Given the description of an element on the screen output the (x, y) to click on. 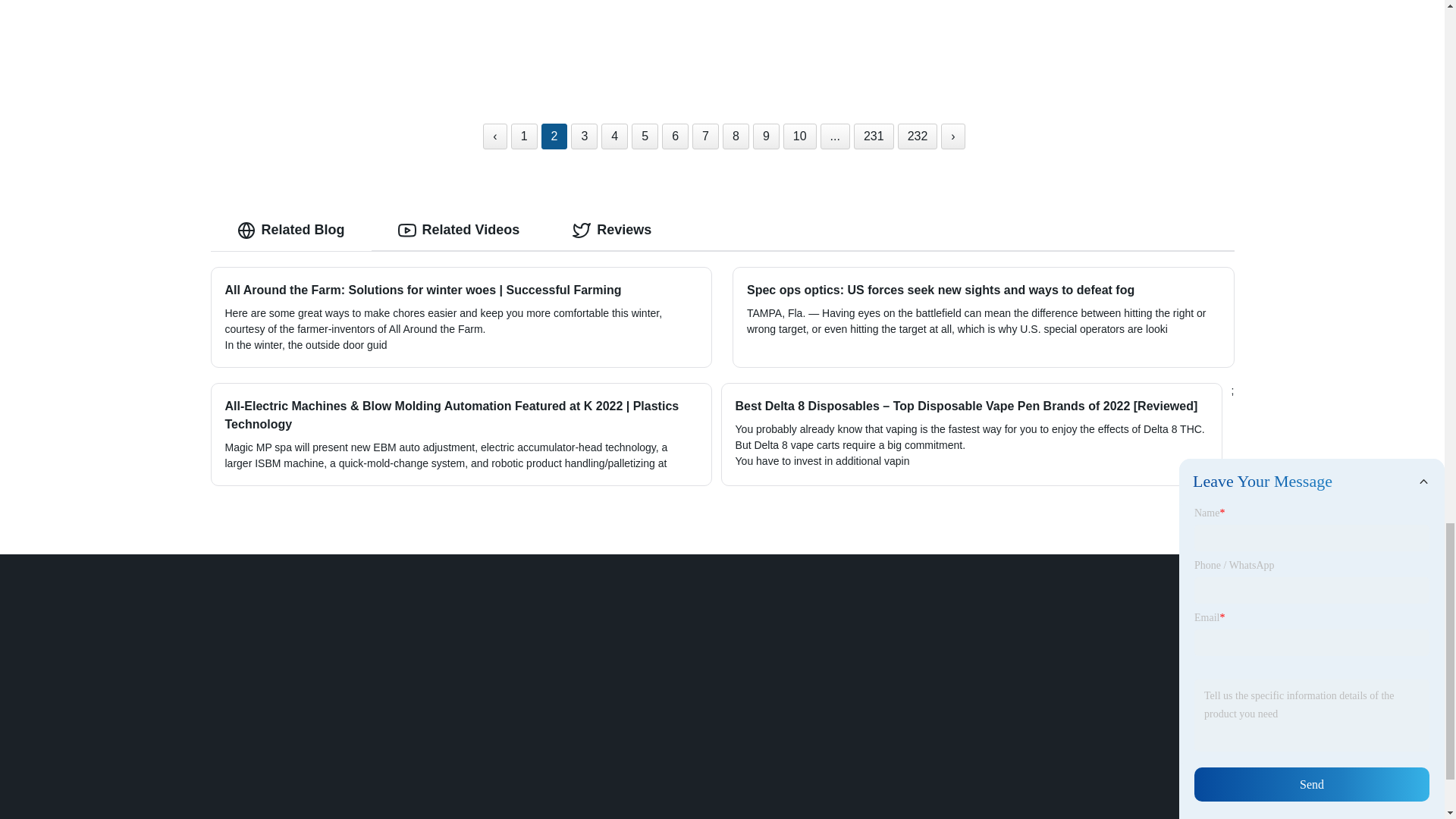
4 (614, 136)
1 (524, 136)
3 (583, 136)
6 (675, 136)
7 (706, 136)
9 (765, 136)
5 (644, 136)
231 (873, 136)
8 (735, 136)
10 (799, 136)
232 (917, 136)
